Given the description of an element on the screen output the (x, y) to click on. 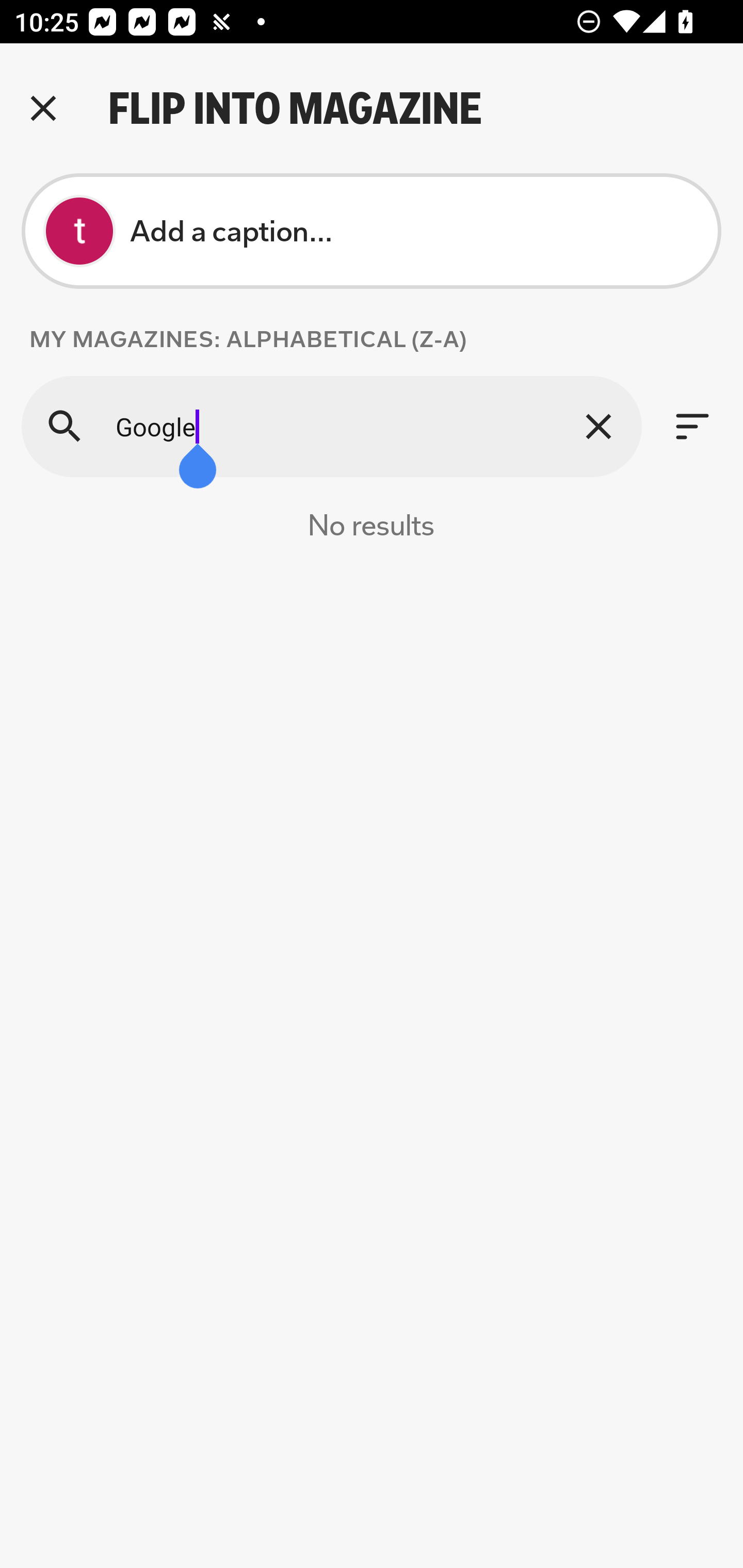
test appium Add a caption… (371, 231)
Google Search (331, 426)
